Given the description of an element on the screen output the (x, y) to click on. 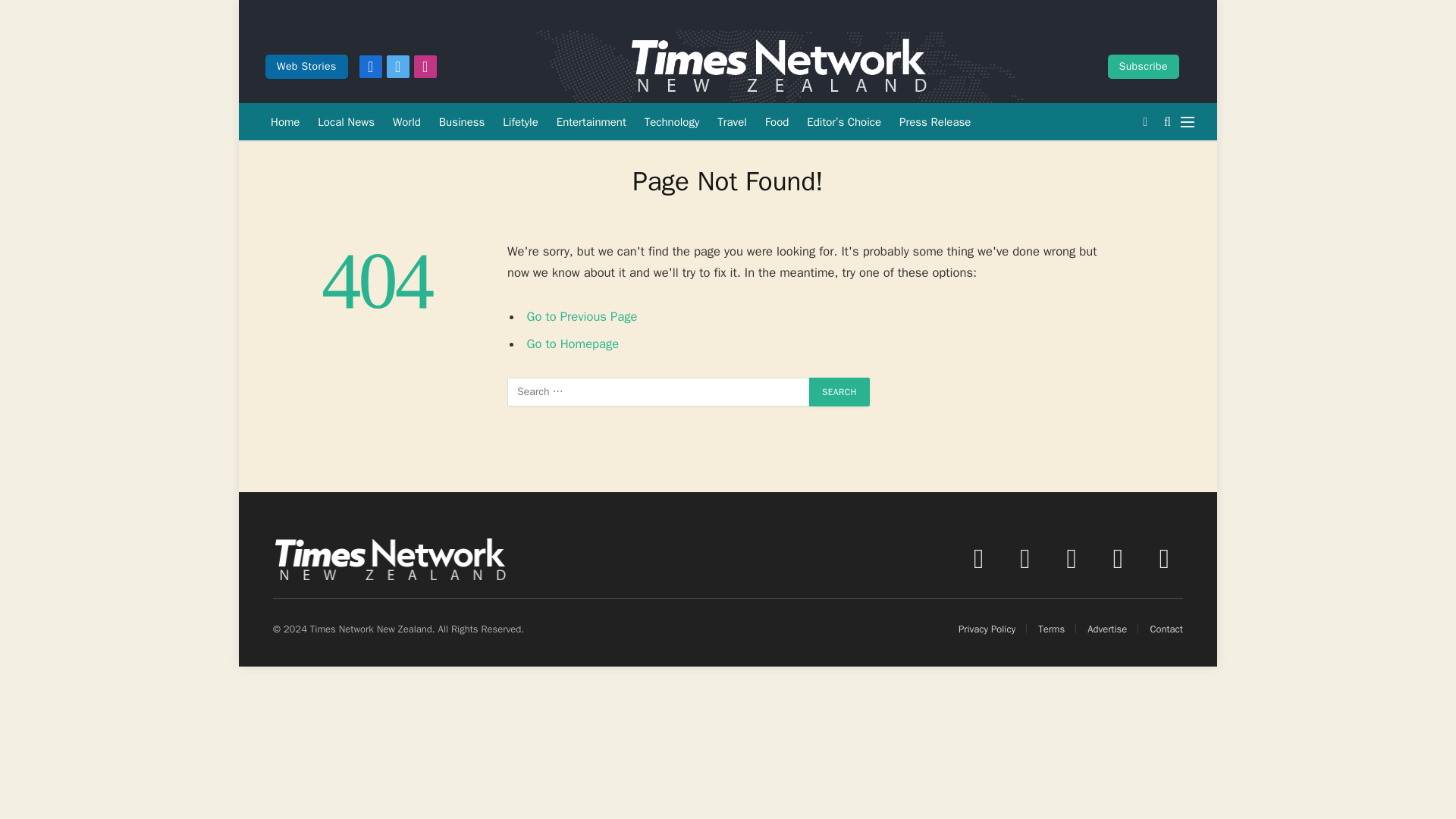
Technology (671, 121)
Search (839, 391)
Subscribe (1143, 66)
Lifetyle (520, 121)
Times Network New Zealand (778, 66)
Home (285, 121)
Instagram (424, 66)
Facebook (370, 66)
Switch to Dark Design - easier on eyes. (1144, 121)
Search (839, 391)
